Given the description of an element on the screen output the (x, y) to click on. 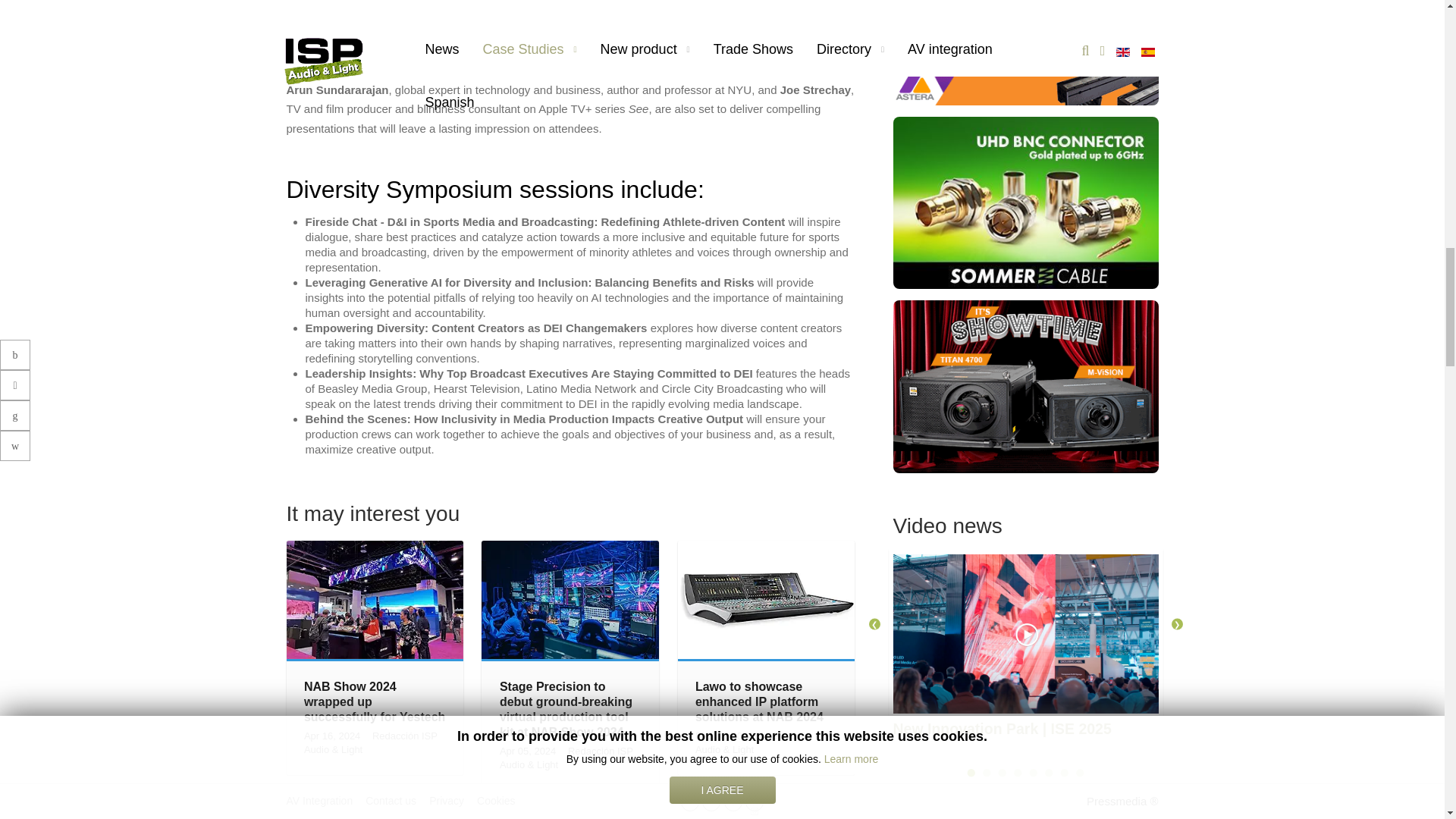
Digital Projection mapping (1025, 385)
Astera Plato TV (1025, 17)
Over 200 first-time exhibitors join 2018 NAB show (570, 816)
NAB Show 2024 wrapped up successfully for Yestech (375, 599)
LDI Explores the Future of Experiential Design (375, 809)
Lawo to showcase enhanced IP platform solutions at NAB 2024 (767, 599)
